Given the description of an element on the screen output the (x, y) to click on. 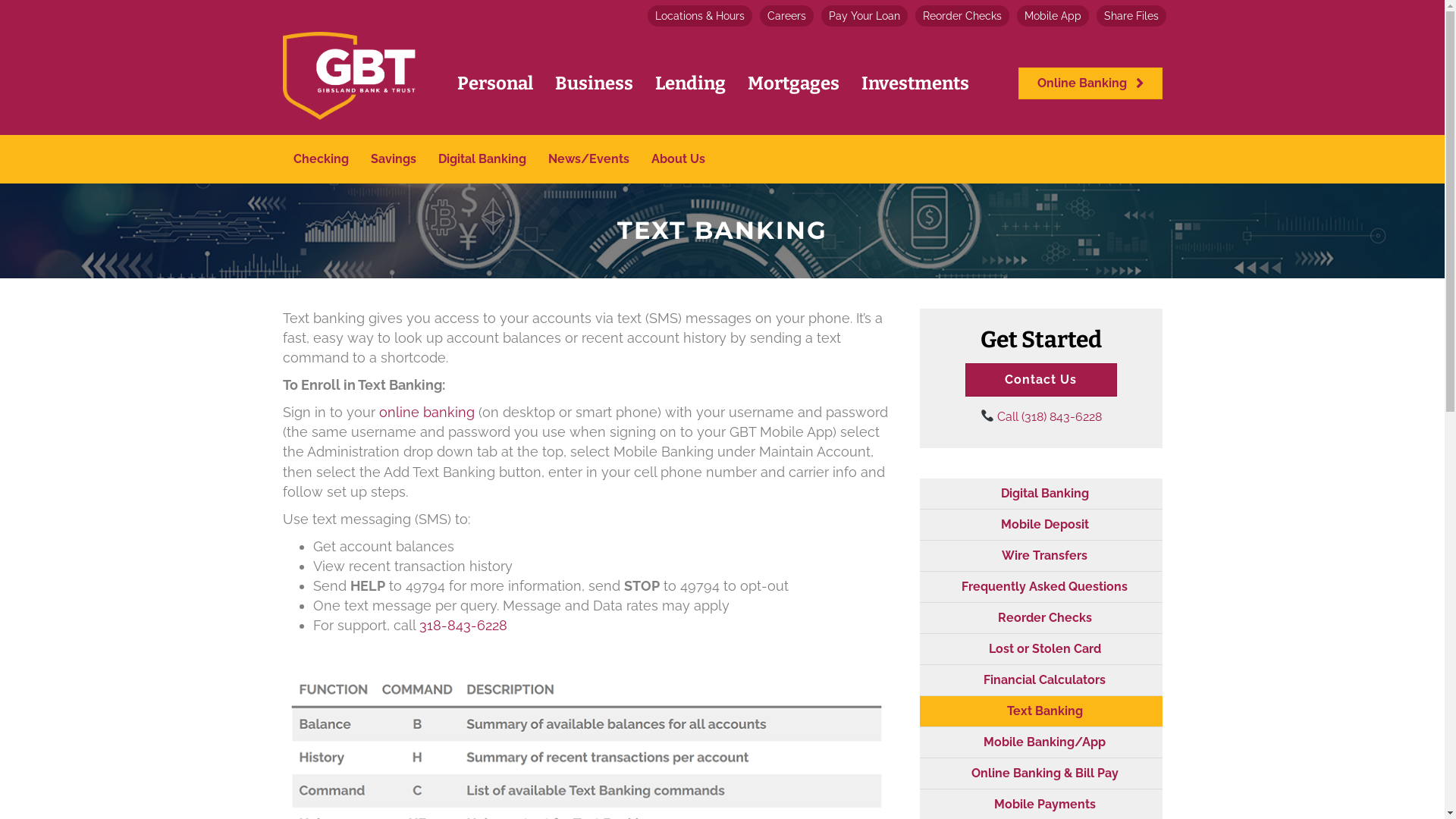
Pay Your Loan Element type: text (863, 15)
Reorder Checks Element type: text (961, 15)
Checking Element type: text (320, 158)
Mobile Banking/App Element type: text (1040, 742)
Call (318) 843-6228 Element type: text (1040, 416)
Business Element type: text (593, 83)
Contact Us Element type: text (1040, 379)
Locations & Hours Element type: text (699, 15)
Careers Element type: text (786, 15)
318-843-6228 Element type: text (462, 625)
Mortgages Element type: text (793, 83)
Personal Element type: text (493, 83)
Savings Element type: text (392, 158)
Wire Transfers Element type: text (1040, 555)
Lost or Stolen Card Element type: text (1040, 648)
Financial Calculators Element type: text (1040, 680)
News/Events Element type: text (587, 158)
Online Banking & Bill Pay Element type: text (1040, 773)
Mobile App Element type: text (1052, 15)
Mobile Deposit Element type: text (1040, 524)
Share Files Element type: text (1131, 15)
Investments Element type: text (914, 83)
Reorder Checks Element type: text (1040, 617)
About Us Element type: text (677, 158)
gbt-final-transparent-cropped-01 Element type: hover (348, 75)
Digital Banking Element type: text (1040, 493)
online banking  Element type: text (428, 412)
Lending Element type: text (690, 83)
Text Banking Element type: text (1040, 711)
Frequently Asked Questions Element type: text (1040, 586)
Digital Banking Element type: text (481, 158)
Online Banking Element type: text (1089, 83)
